Given the description of an element on the screen output the (x, y) to click on. 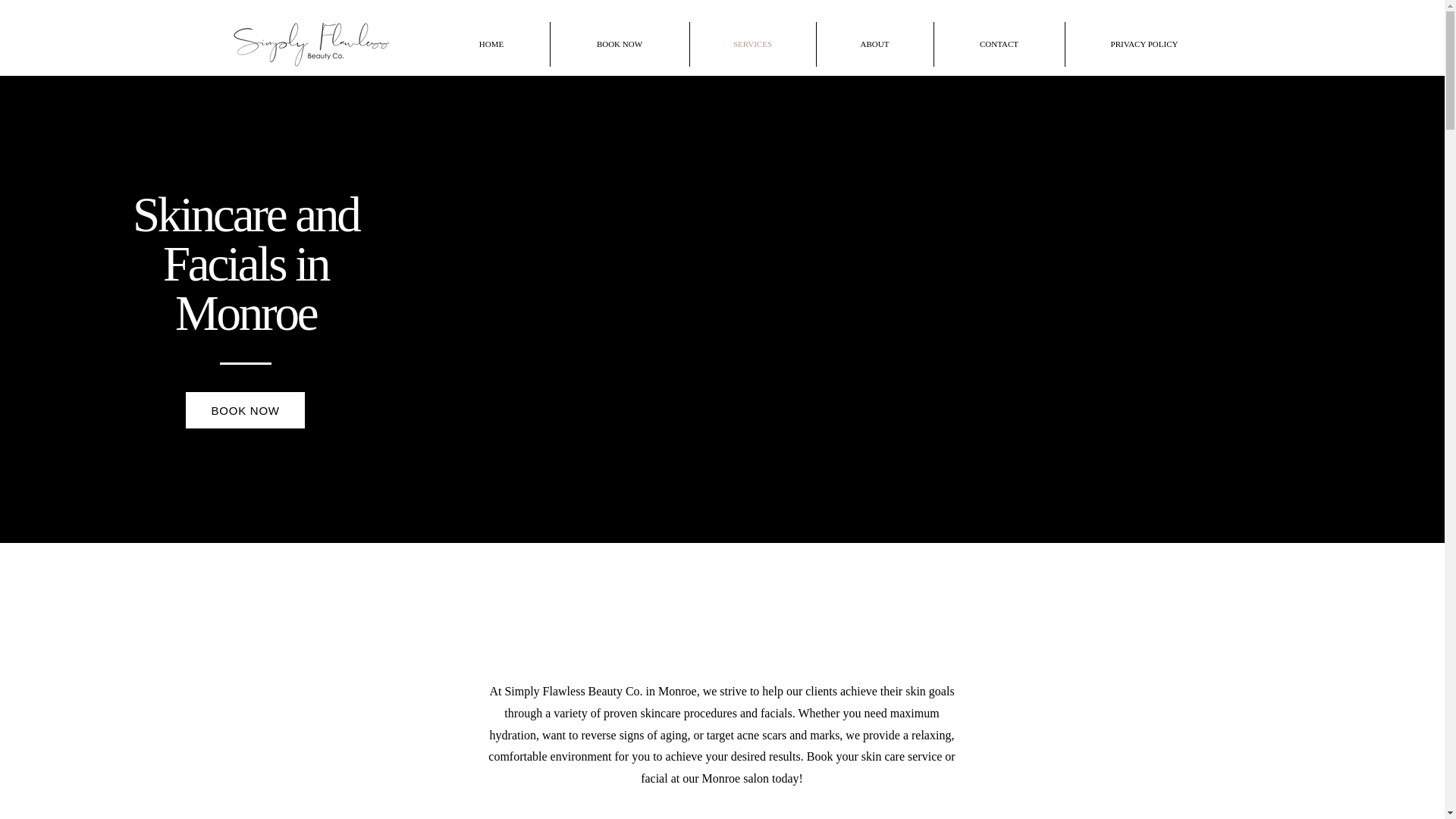
SERVICES (752, 44)
HOME (491, 44)
BOOK NOW (245, 410)
CONTACT (999, 44)
PRIVACY POLICY (1143, 44)
BOOK NOW (619, 44)
ABOUT (874, 44)
